Given the description of an element on the screen output the (x, y) to click on. 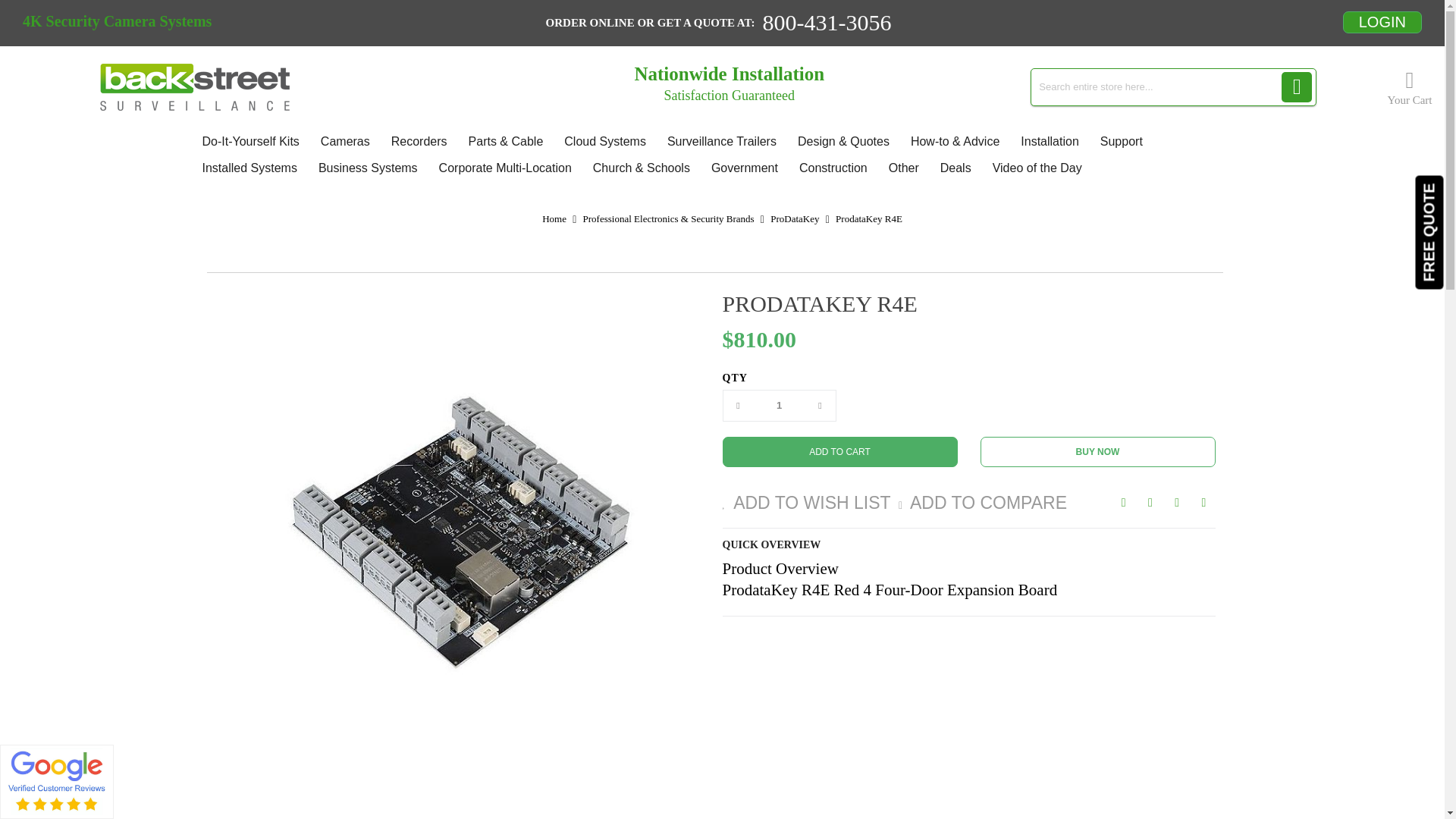
Share on Twitter (1149, 501)
1 (779, 405)
SEARCH (1296, 87)
Qty (779, 405)
ProDataKey (794, 218)
Cameras (345, 141)
Share on Facebook (1123, 501)
Login (1382, 21)
Decrease (738, 405)
Increase (820, 405)
800-431-3056 (826, 22)
Go to Home Page (553, 218)
Buy Now (1096, 451)
Add to Cart (839, 451)
LOGIN (1382, 22)
